Given the description of an element on the screen output the (x, y) to click on. 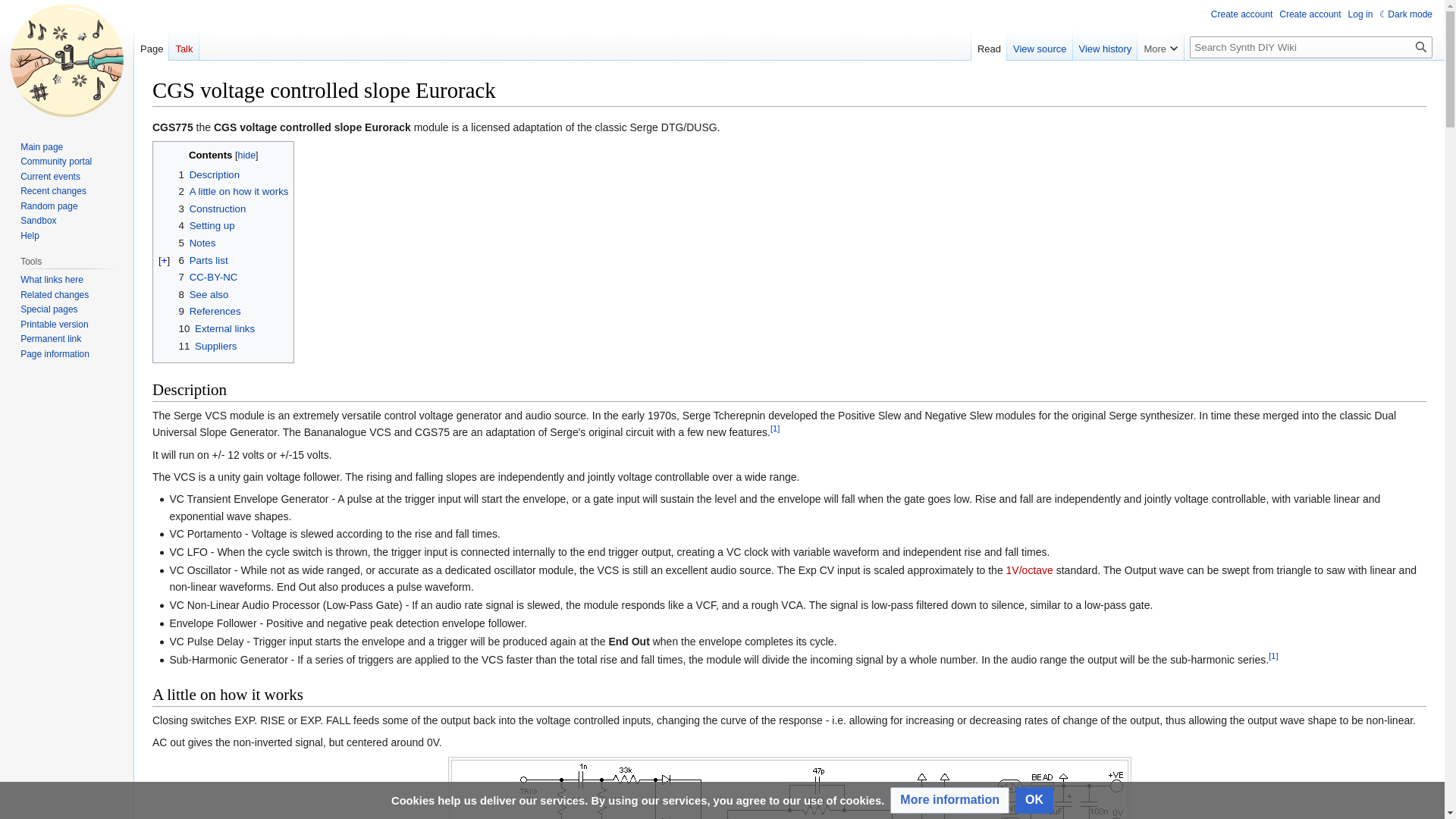
Search (1420, 46)
4 Setting up (206, 225)
8 See also (203, 294)
1 Description (209, 174)
Create an account to edit (1309, 14)
7 CC-BY-NC (208, 276)
11 Suppliers (208, 346)
3 Construction (212, 208)
6 Parts list (203, 260)
Search the pages for this text (1420, 46)
Go (1420, 46)
Create an account to edit (1241, 14)
More options (1160, 45)
9 References (210, 310)
